Given the description of an element on the screen output the (x, y) to click on. 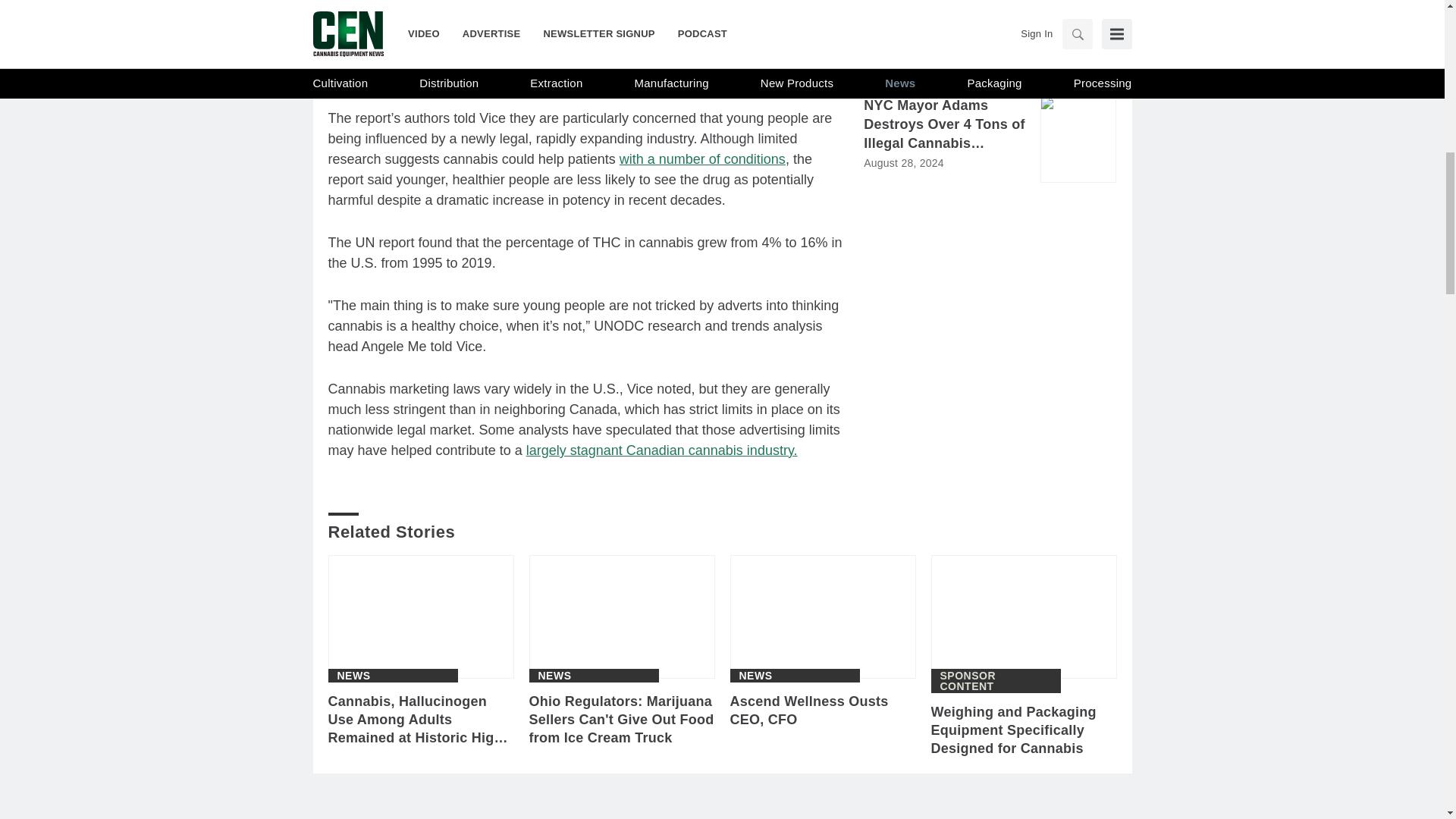
News (352, 675)
Sponsor Content (996, 680)
News (754, 675)
News (555, 675)
